Given the description of an element on the screen output the (x, y) to click on. 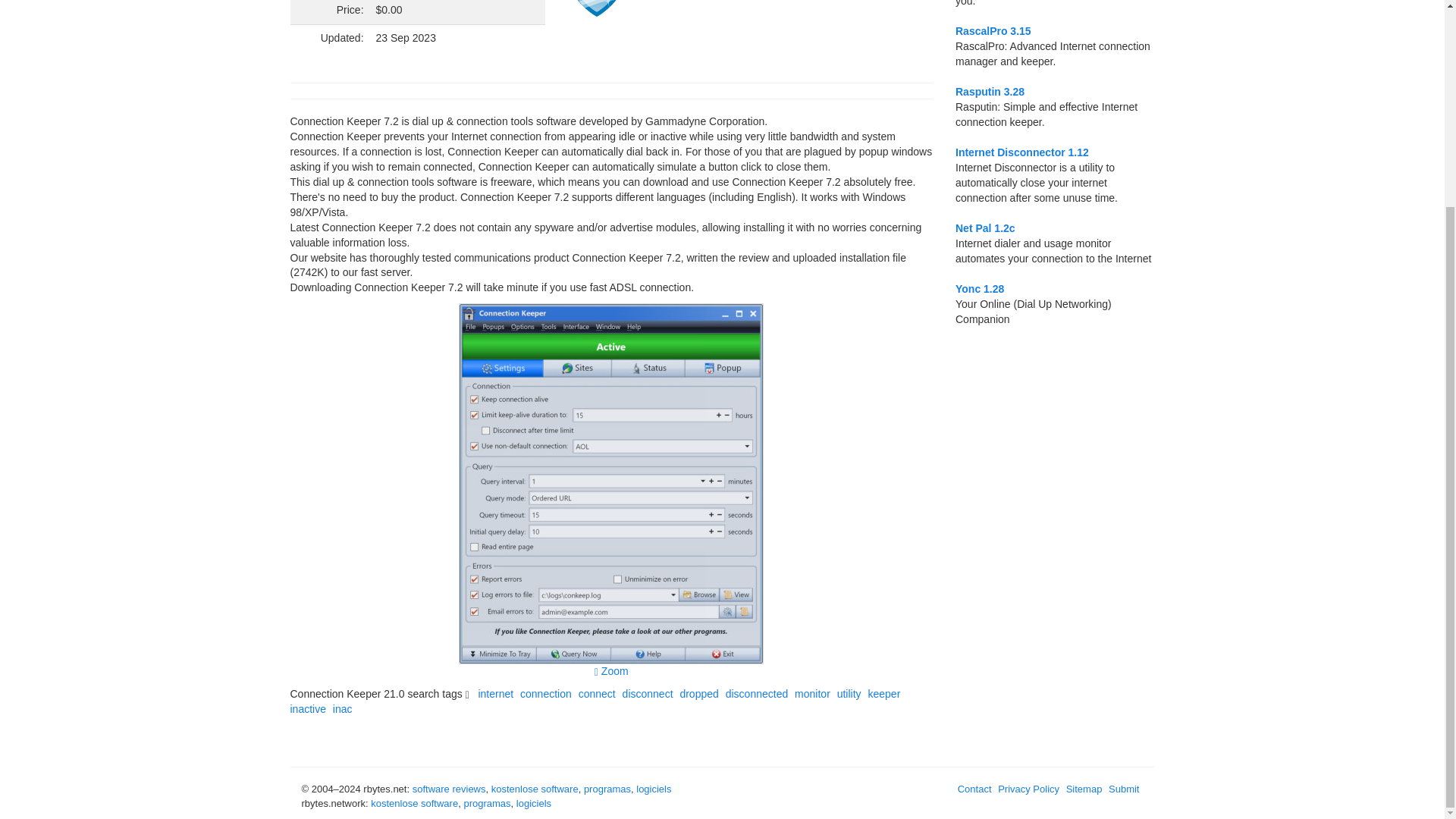
keeper (885, 693)
RascalPro 3.15 (992, 30)
Internet Disconnector 1.12 review (1022, 152)
programas (606, 788)
Privacy Policy (1029, 788)
Rasputin 3.28 review (990, 91)
programas (487, 803)
Net Pal 1.2c review (984, 227)
kostenlose software (535, 788)
inactive (309, 708)
connect (599, 693)
Sitemap (1085, 788)
dropped (700, 693)
Internet Disconnector 1.12 (1022, 152)
Contact (976, 788)
